Given the description of an element on the screen output the (x, y) to click on. 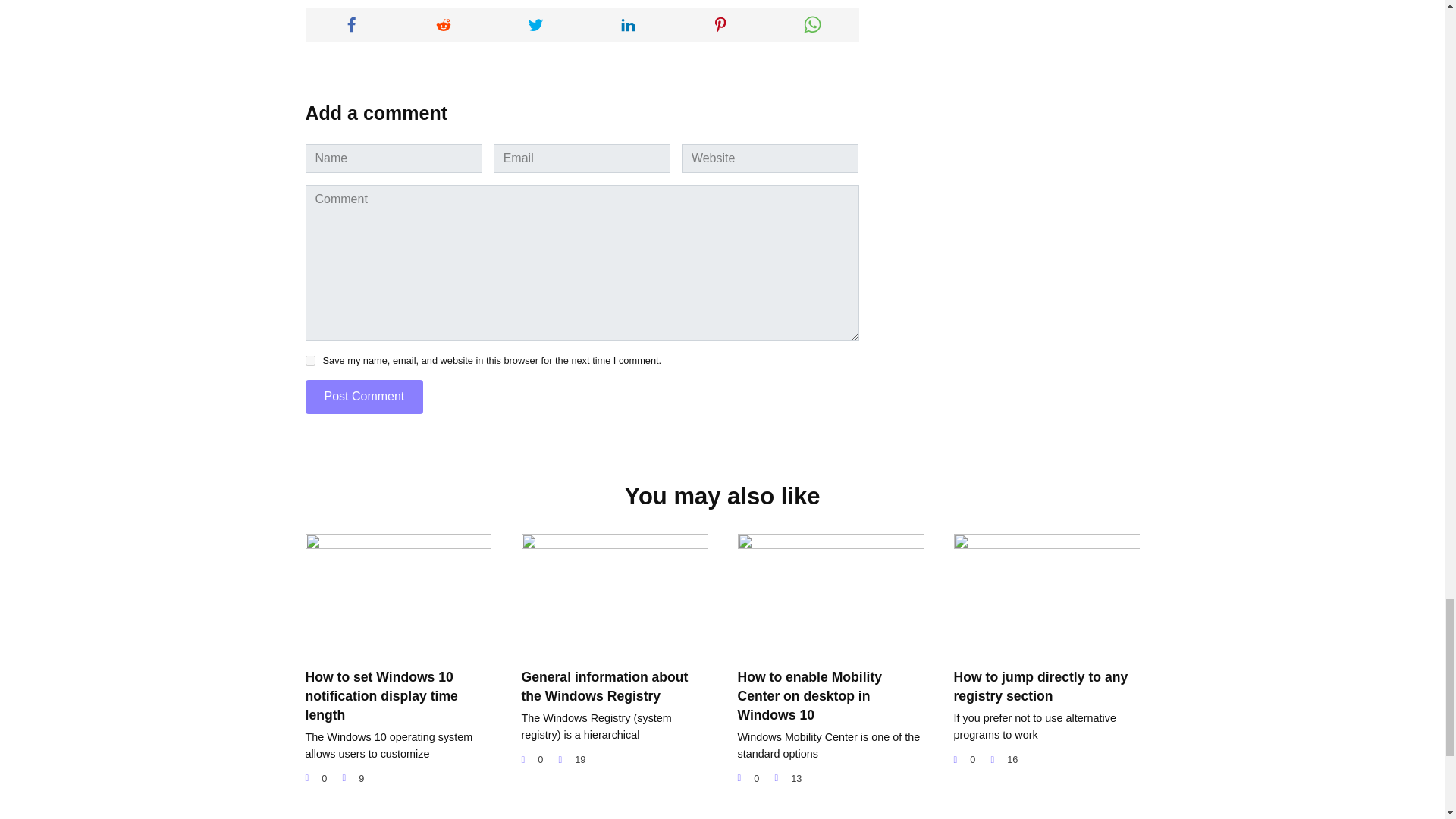
Post Comment (363, 397)
How to jump directly to any registry section (1040, 686)
How to set Windows 10 notification display time length (380, 695)
Post Comment (363, 397)
How to enable Mobility Center on desktop in Windows 10 (809, 695)
General information about the Windows Registry (604, 686)
yes (309, 360)
